Given the description of an element on the screen output the (x, y) to click on. 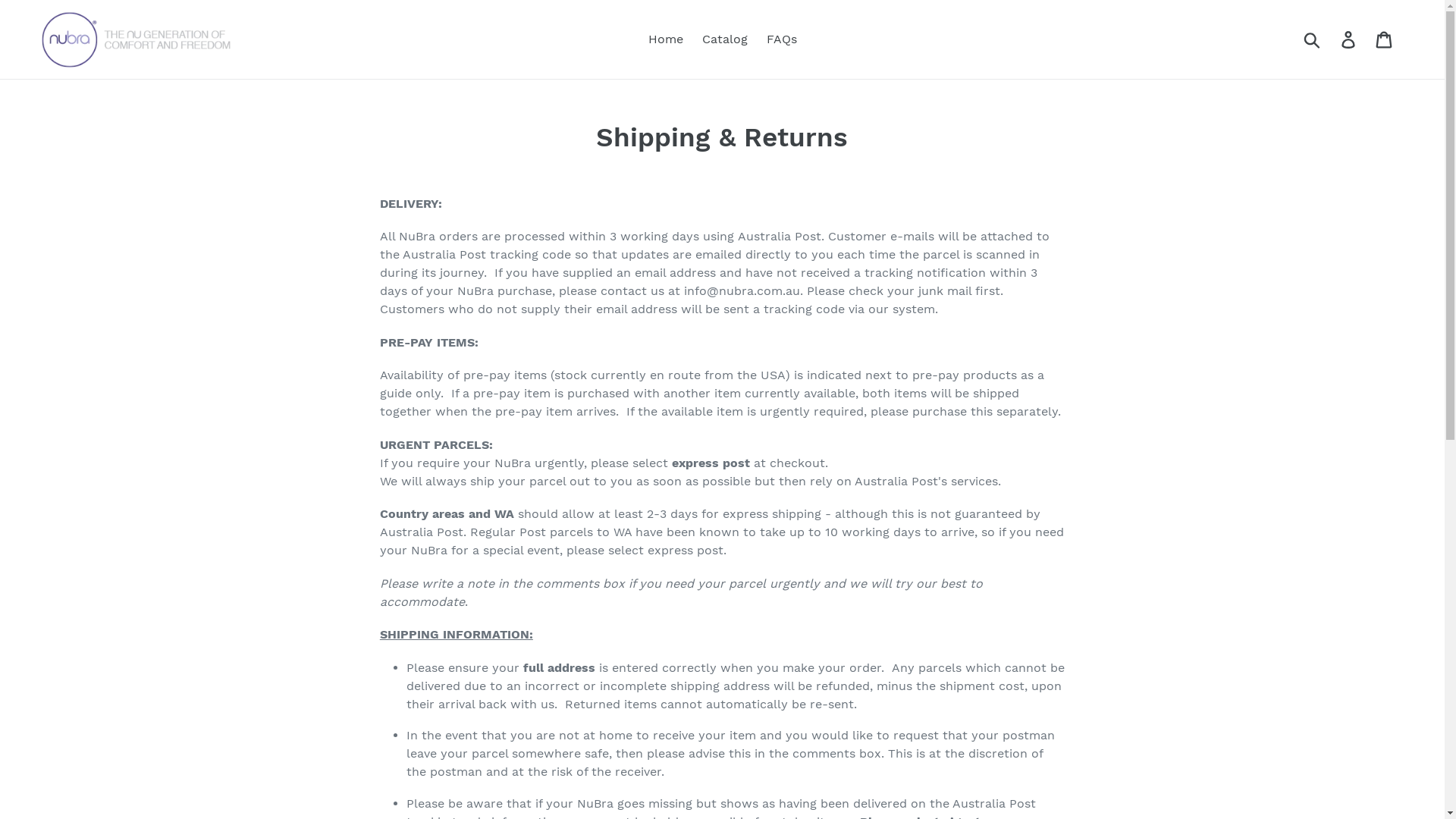
Submit Element type: text (1312, 39)
Log in Element type: text (1349, 39)
Cart Element type: text (1384, 39)
Catalog Element type: text (724, 39)
FAQs Element type: text (780, 39)
Home Element type: text (665, 39)
